Given the description of an element on the screen output the (x, y) to click on. 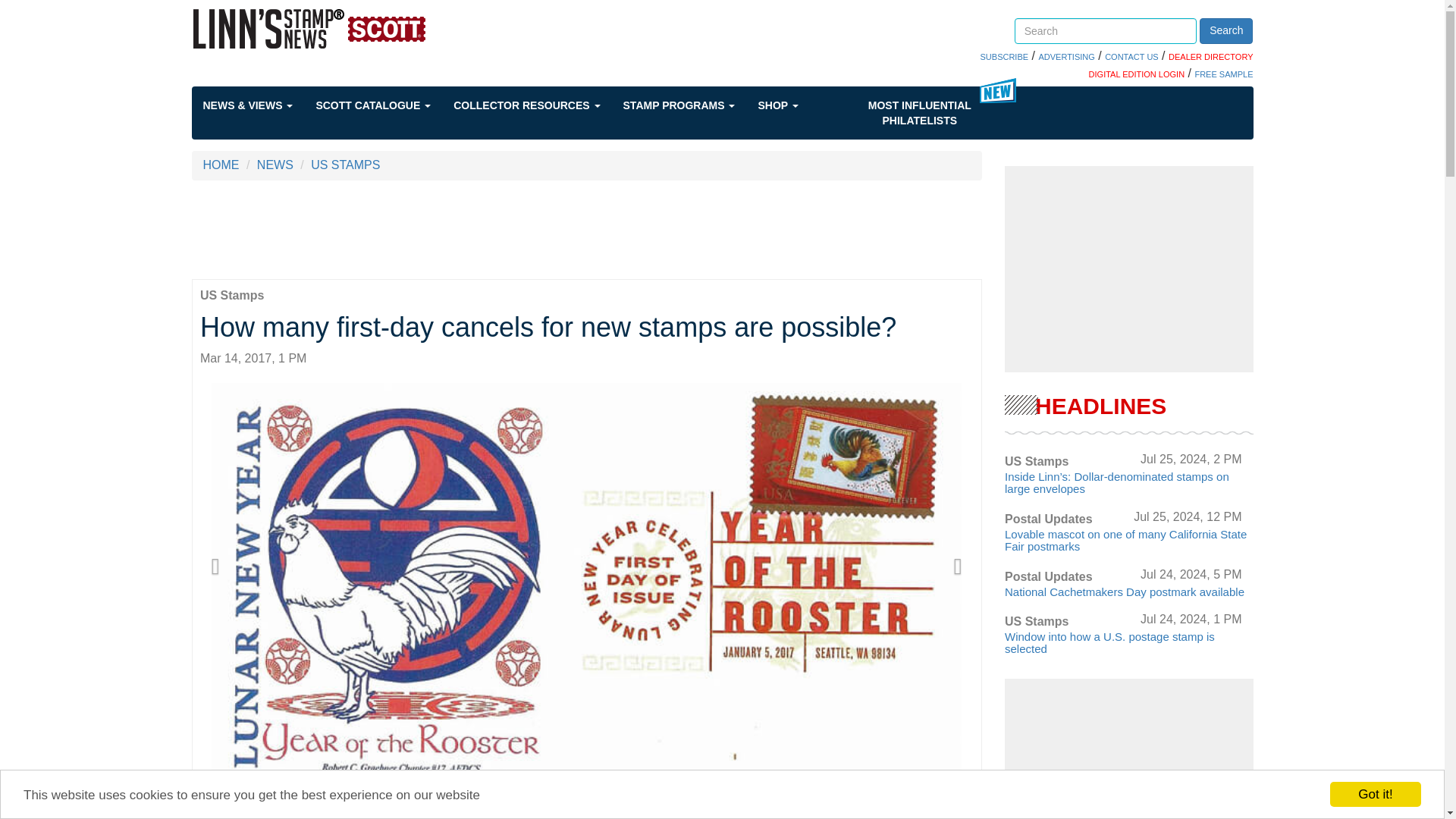
SCOTT CATALOGUE (383, 105)
3rd party ad content (587, 229)
SUBSCRIBE (1004, 56)
ADVERTISING (1066, 56)
CONTACT US (1131, 56)
Search input (1105, 31)
COLLECTOR RESOURCES (537, 105)
FREE SAMPLE (1222, 73)
Search (1225, 31)
Linn's Stamp News (352, 28)
DEALER DIRECTORY (1210, 56)
DIGITAL EDITION LOGIN (1137, 73)
